Given the description of an element on the screen output the (x, y) to click on. 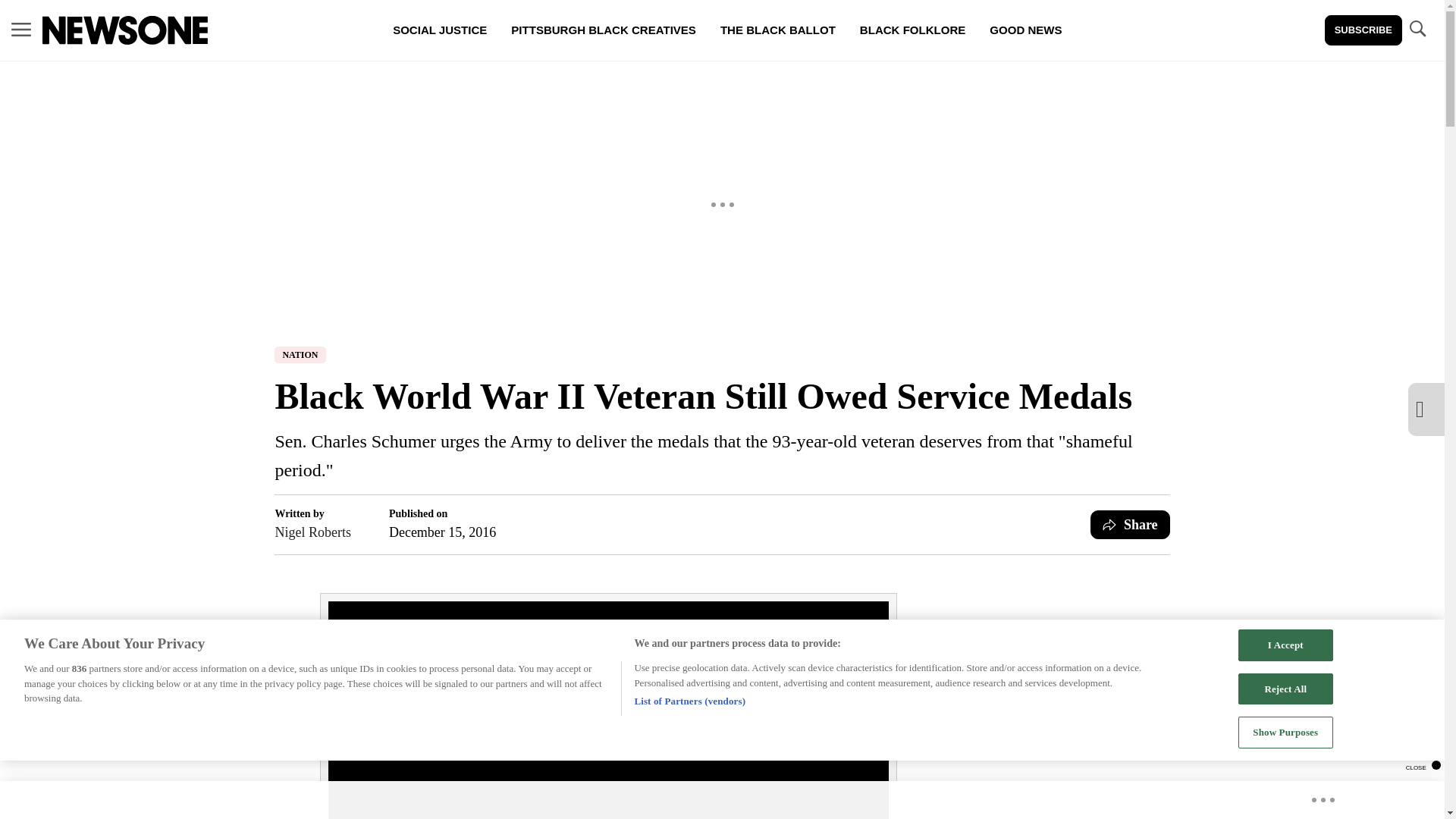
Nigel Roberts (312, 531)
GOOD NEWS (1025, 30)
Share (1130, 524)
THE BLACK BALLOT (777, 30)
MENU (20, 29)
NATION (299, 354)
TOGGLE SEARCH (1417, 28)
MENU (20, 30)
SUBSCRIBE (1363, 30)
TOGGLE SEARCH (1417, 30)
SOCIAL JUSTICE (439, 30)
BLACK FOLKLORE (911, 30)
PITTSBURGH BLACK CREATIVES (603, 30)
